Given the description of an element on the screen output the (x, y) to click on. 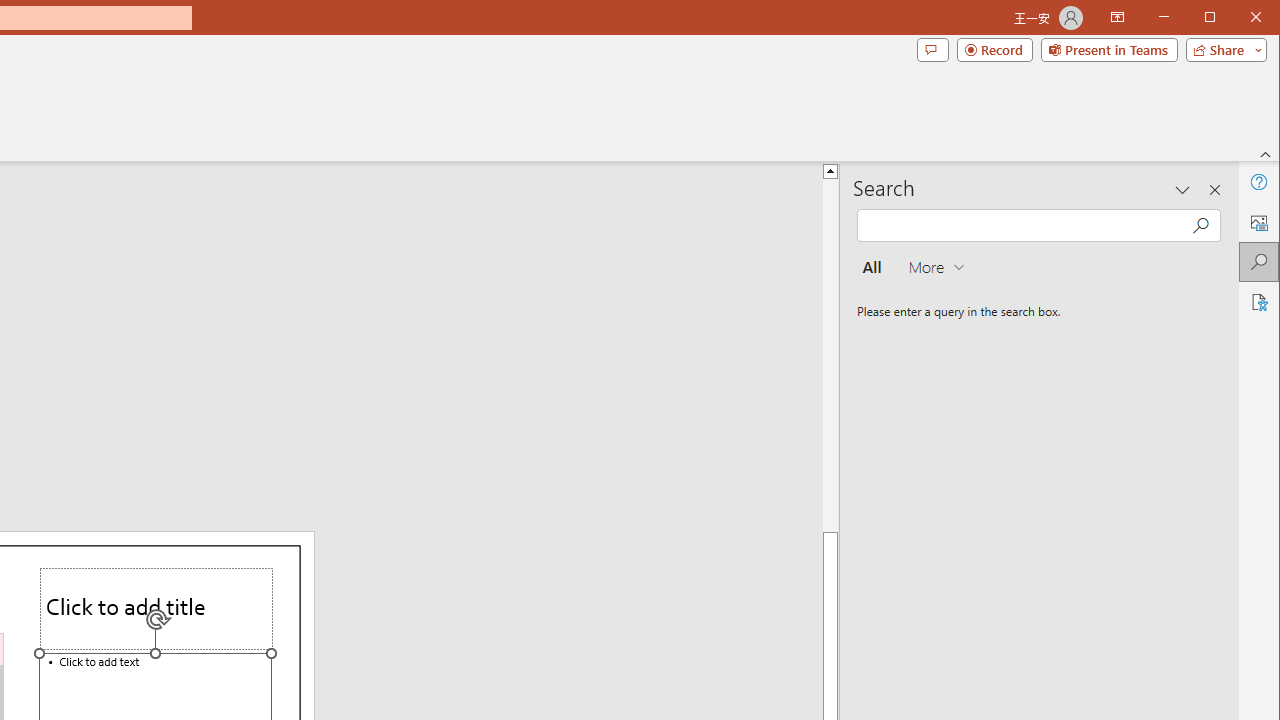
Alt Text (1258, 221)
Title TextBox (155, 609)
Page up (910, 355)
